Given the description of an element on the screen output the (x, y) to click on. 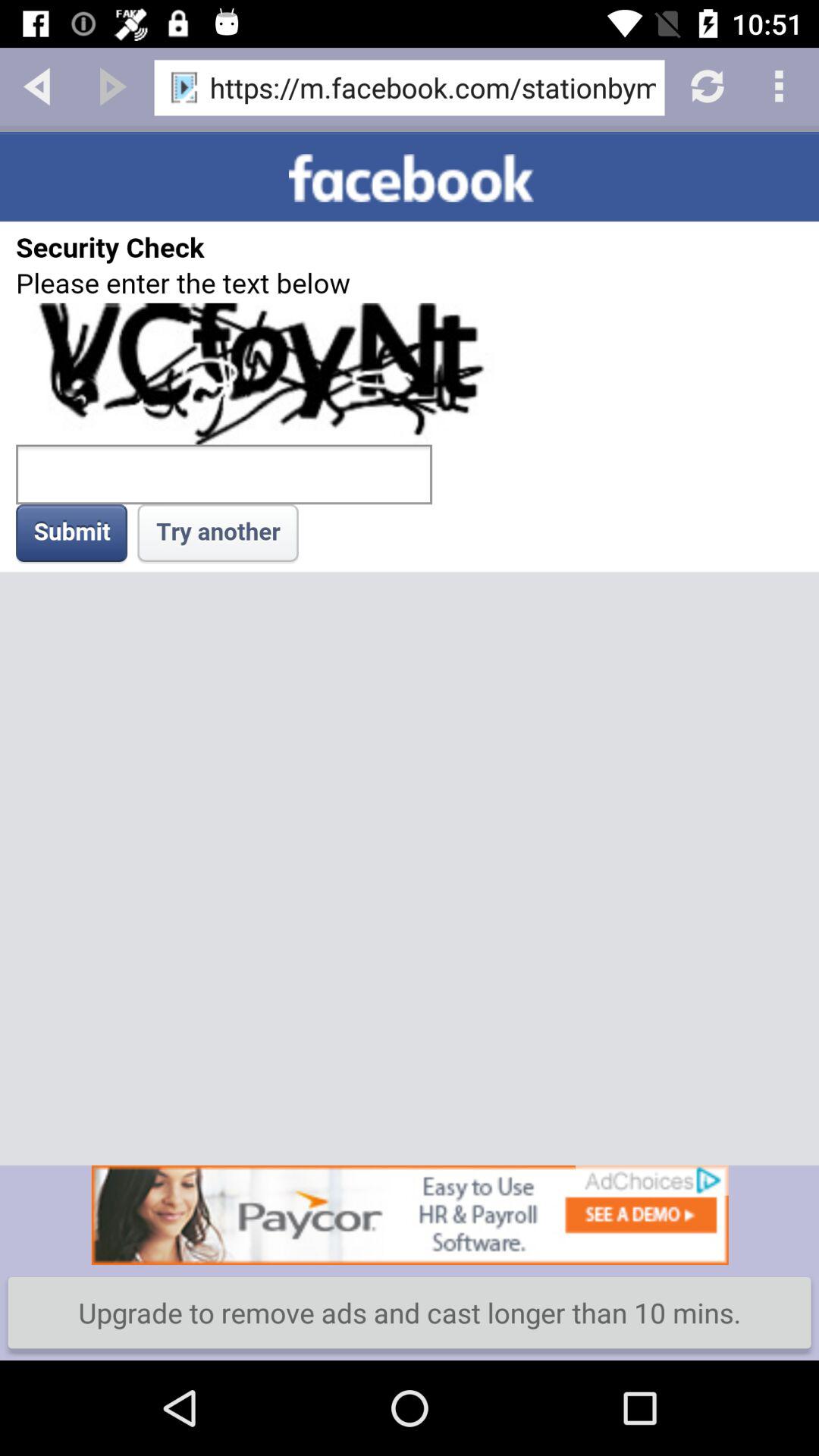
facebook app (409, 648)
